Given the description of an element on the screen output the (x, y) to click on. 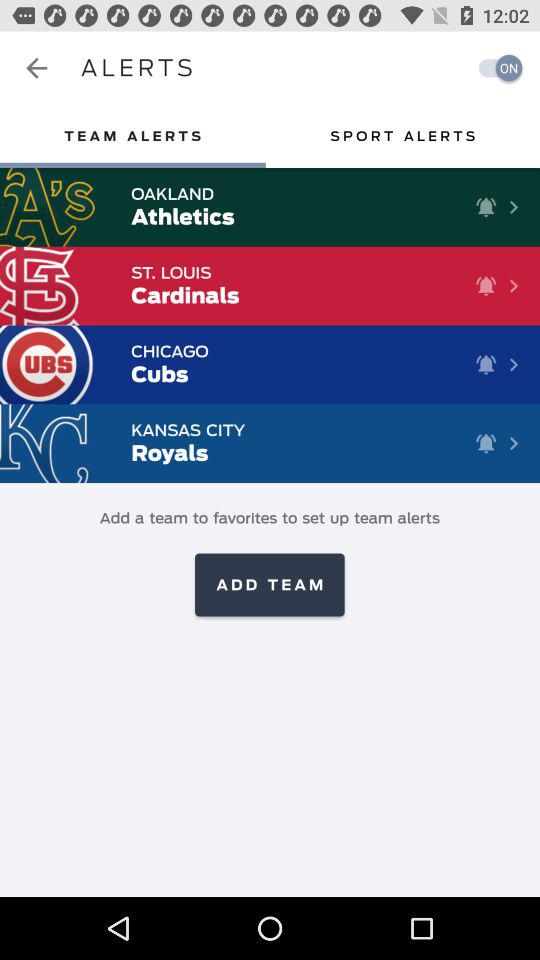
turn on notification (495, 67)
